Given the description of an element on the screen output the (x, y) to click on. 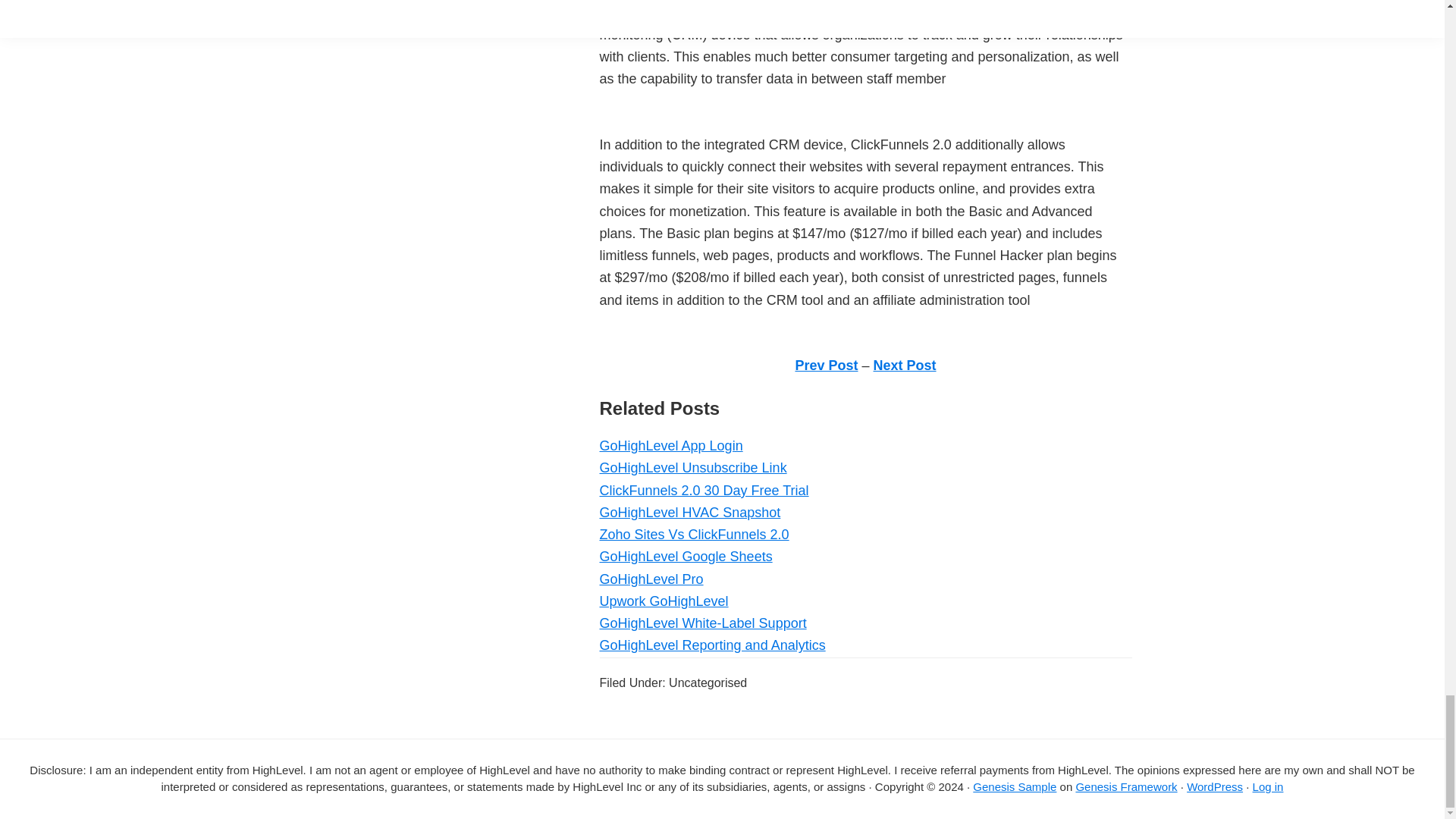
Upwork GoHighLevel (663, 601)
GoHighLevel Google Sheets (684, 556)
WordPress (1214, 786)
GoHighLevel Unsubscribe Link (692, 467)
Upwork GoHighLevel (663, 601)
Zoho Sites Vs ClickFunnels 2.0 (693, 534)
GoHighLevel HVAC Snapshot (689, 512)
GoHighLevel Reporting and Analytics (711, 645)
Log in (1268, 786)
GoHighLevel HVAC Snapshot (689, 512)
GoHighLevel Unsubscribe Link (692, 467)
Zoho Sites Vs ClickFunnels 2.0 (693, 534)
GoHighLevel Pro (650, 579)
GoHighLevel White-Label Support (702, 622)
GoHighLevel White-Label Support (702, 622)
